Given the description of an element on the screen output the (x, y) to click on. 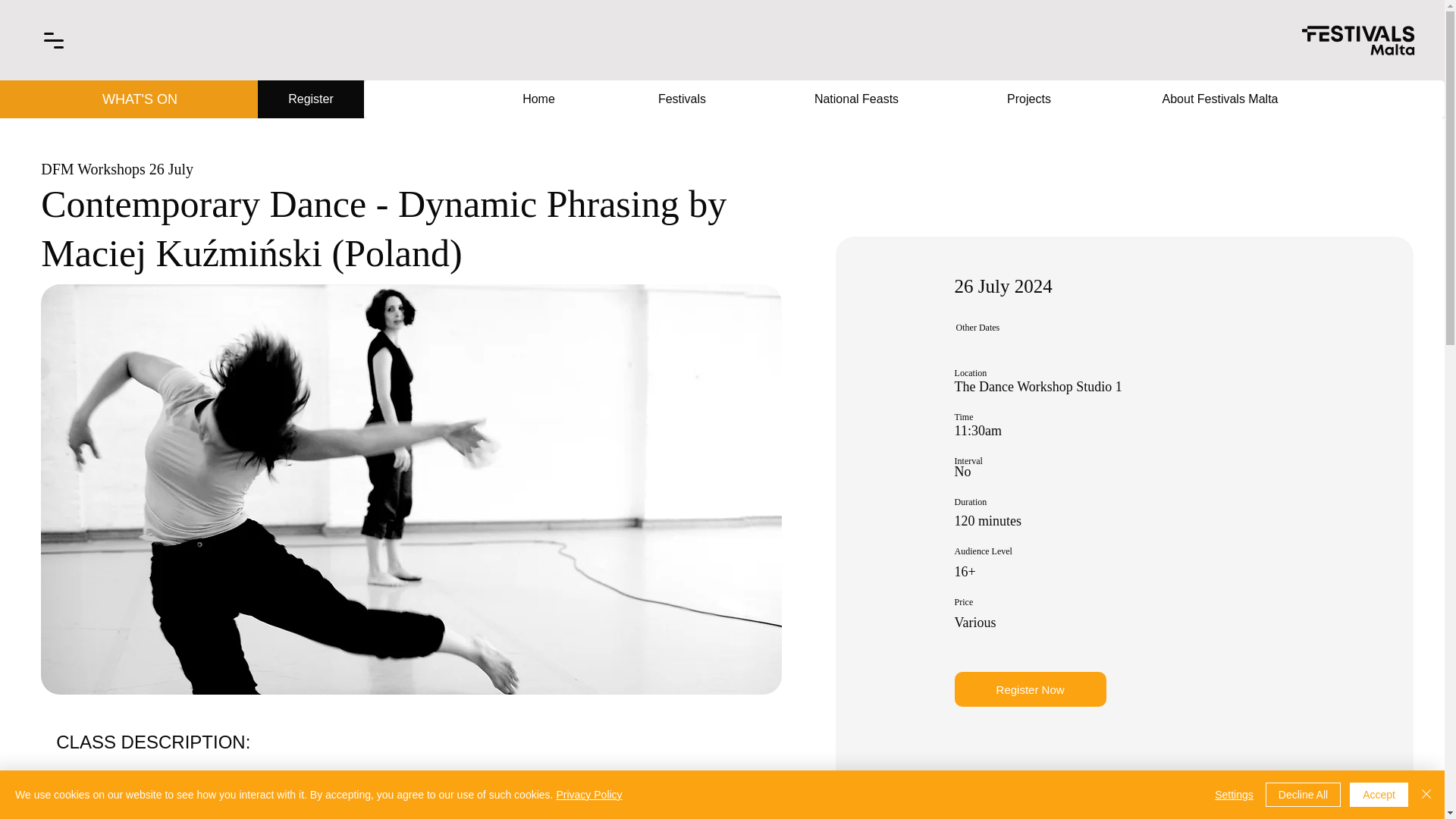
Festivals (681, 99)
About Festivals Malta (1219, 99)
Privacy Policy (588, 794)
Accept (1378, 794)
Home (538, 99)
Register Now (1030, 688)
Projects (1028, 99)
National Feasts (855, 99)
Register (310, 98)
WHAT'S ON (139, 99)
Decline All (1302, 794)
